Given the description of an element on the screen output the (x, y) to click on. 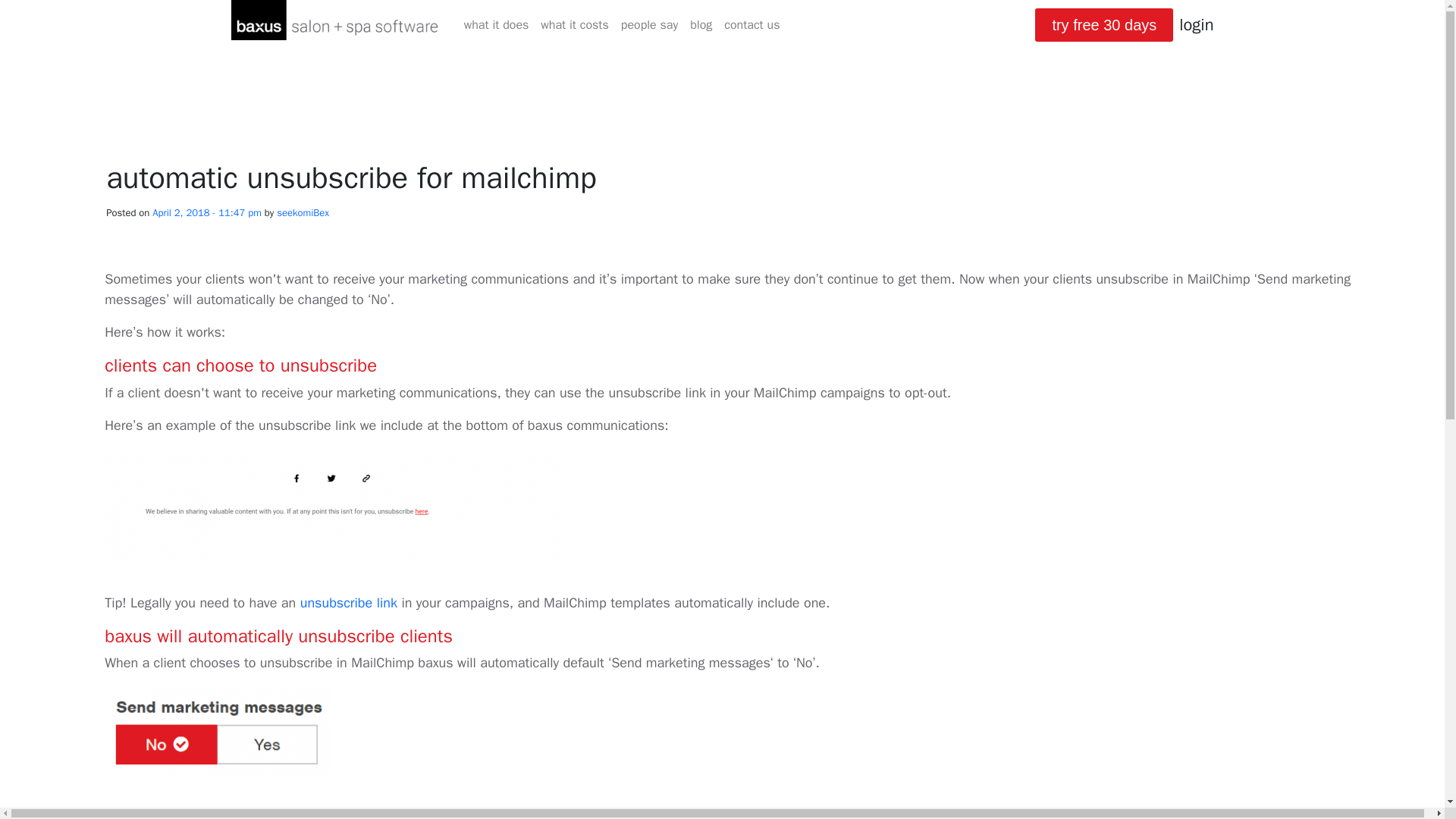
what it costs (574, 24)
Contact us (751, 24)
what it does (496, 24)
What it does (496, 24)
people say (649, 24)
unsubscribe link (348, 602)
try free 30 days (1104, 24)
seekomiBex (302, 212)
View all posts by seekomiBex (302, 212)
Blog (700, 24)
login (1195, 24)
blog (700, 24)
April 2, 2018 - 11:47 pm (207, 212)
People say (649, 24)
